Given the description of an element on the screen output the (x, y) to click on. 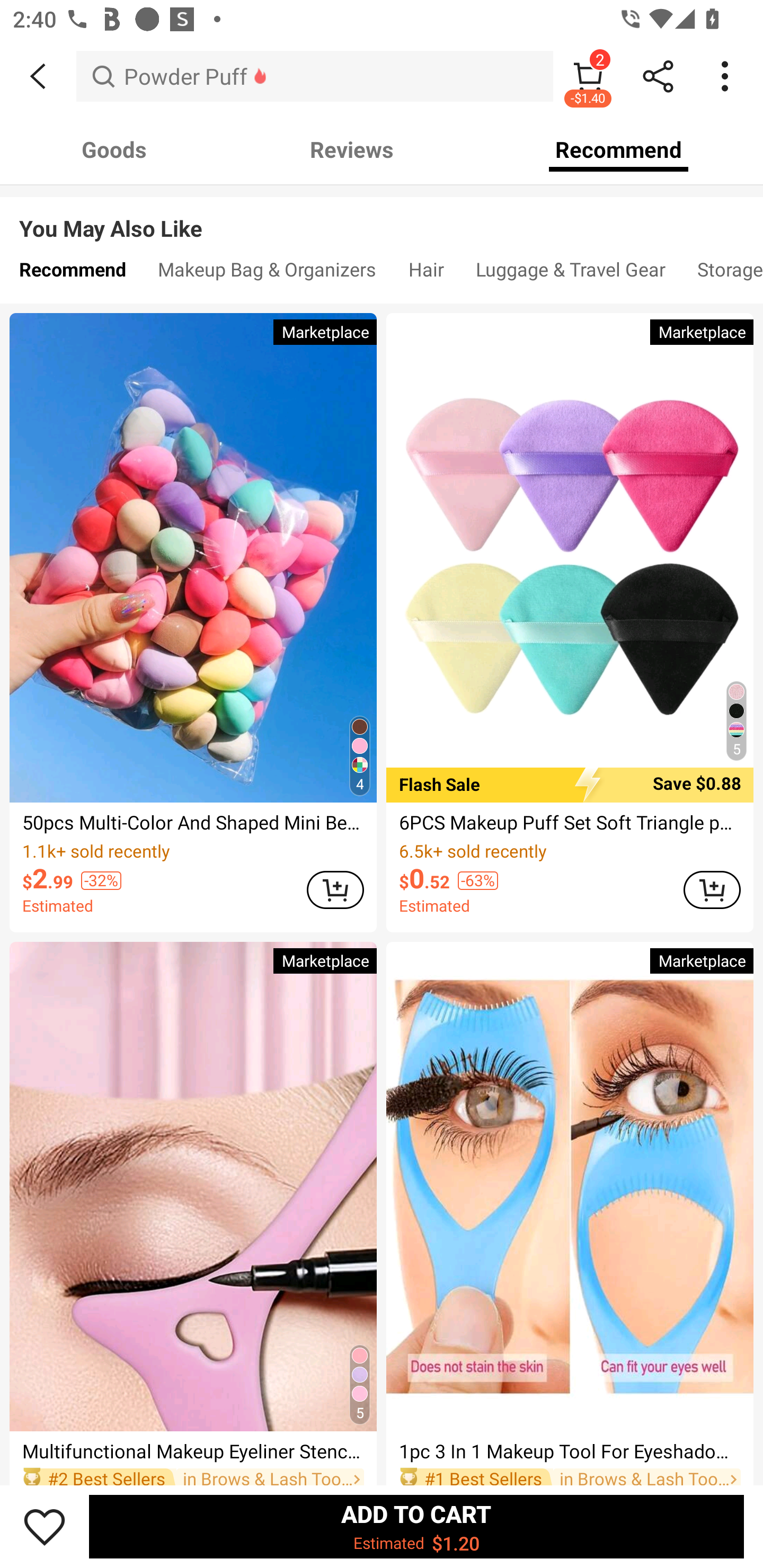
BACK (38, 75)
2 -$1.40 (588, 75)
Powder Puff (314, 75)
Goods (114, 149)
Reviews (351, 149)
Recommend (618, 149)
You May Also Like (381, 215)
Recommend (72, 273)
Makeup Bag & Organizers (266, 273)
Hair (426, 273)
Luggage & Travel Gear (570, 273)
ADD TO CART (334, 889)
ADD TO CART (711, 889)
#2 Best Sellers in Brows & Lash Tools (192, 1475)
#1 Best Sellers in Brows & Lash Tools (569, 1475)
ADD TO CART Estimated   $1.20 (416, 1526)
Save (44, 1526)
